Given the description of an element on the screen output the (x, y) to click on. 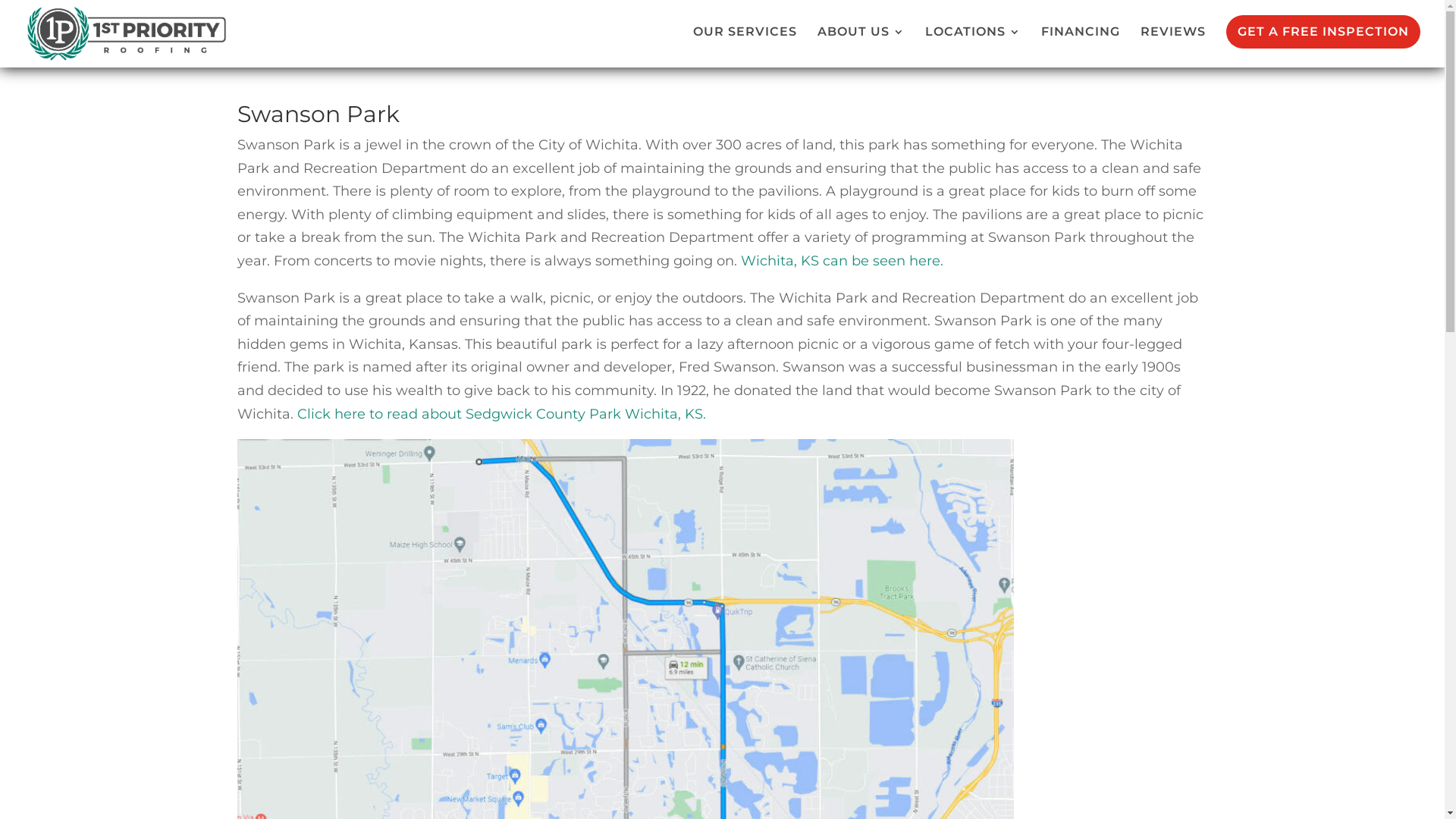
LOCATIONS Element type: text (972, 46)
REVIEWS Element type: text (1172, 46)
OUR SERVICES Element type: text (745, 46)
ABOUT US Element type: text (860, 46)
Click here to read about Sedgwick County Park Wichita, KS. Element type: text (501, 413)
GET A FREE INSPECTION Element type: text (1323, 31)
FINANCING Element type: text (1080, 46)
Wichita, KS can be seen here. Element type: text (841, 260)
